Given the description of an element on the screen output the (x, y) to click on. 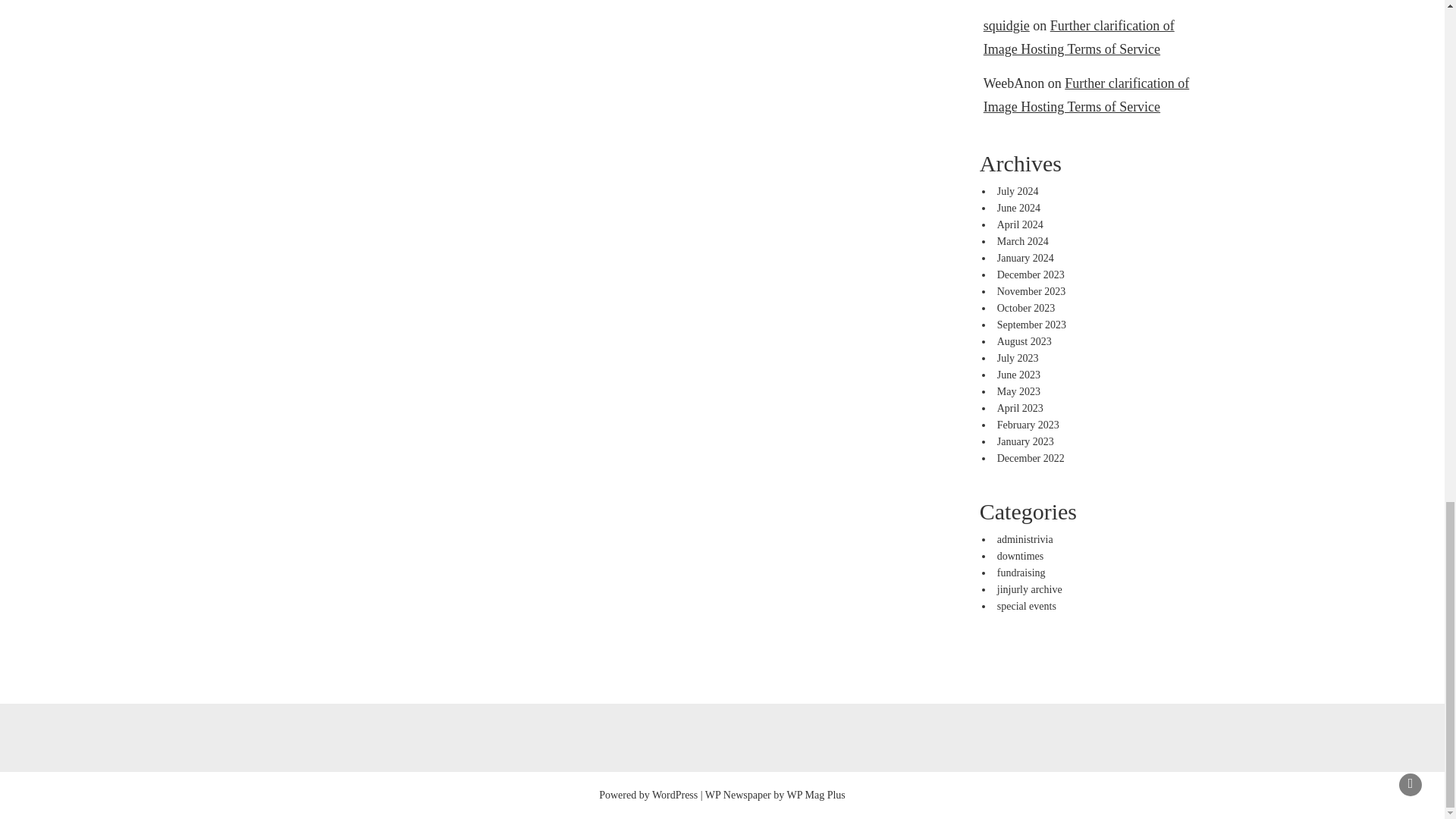
March 2024 (1022, 241)
December 2023 (1030, 274)
July 2024 (1018, 191)
April 2024 (1020, 224)
September 2023 (1031, 324)
Further clarification of Image Hosting Terms of Service (1086, 95)
Further clarification of Image Hosting Terms of Service (1079, 37)
January 2024 (1025, 257)
June 2023 (1019, 374)
squidgie (1006, 25)
July 2023 (1018, 357)
June 2024 (1019, 207)
October 2023 (1026, 307)
November 2023 (1031, 291)
August 2023 (1024, 341)
